Given the description of an element on the screen output the (x, y) to click on. 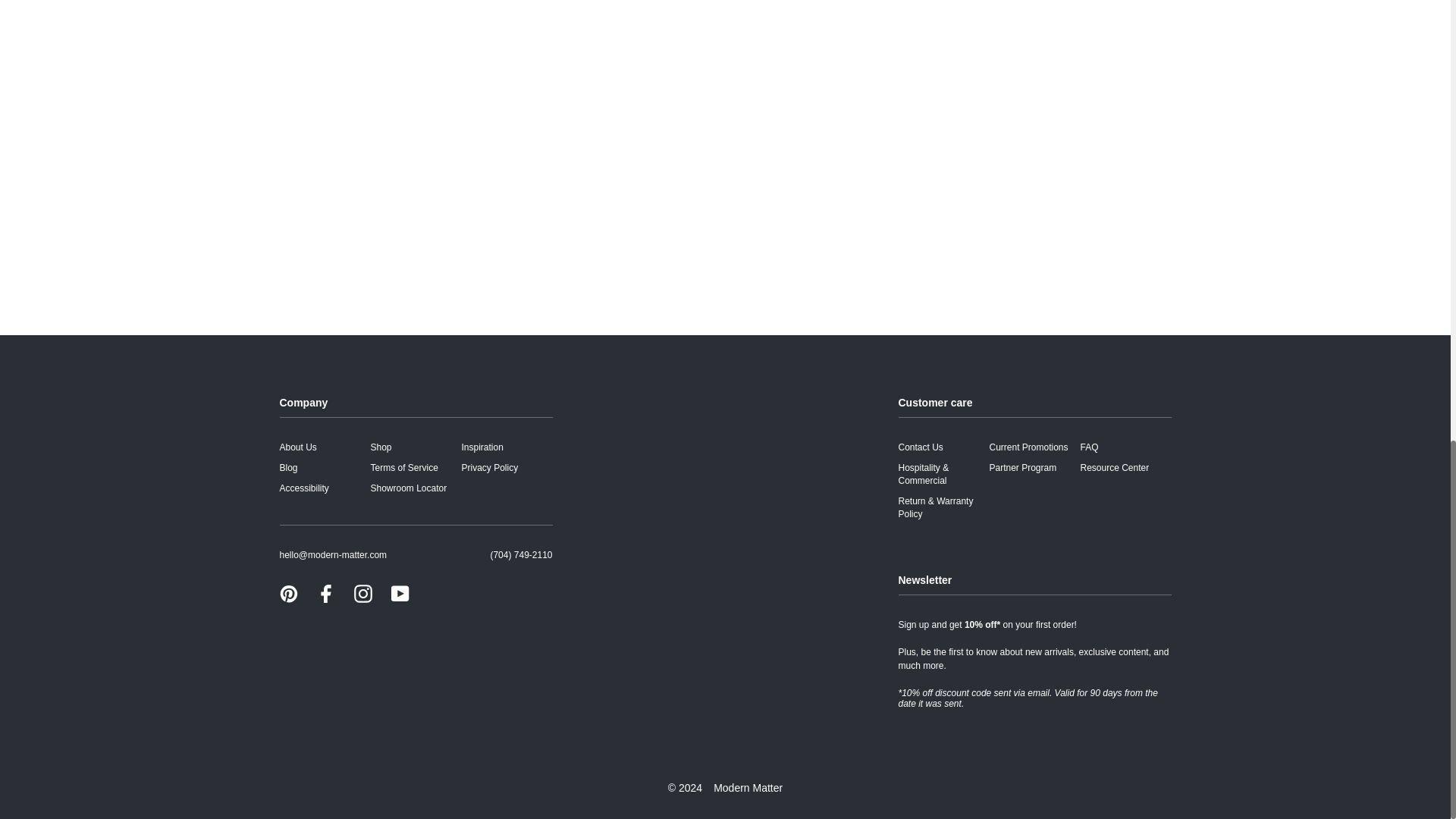
tel:17047492110 (520, 553)
Middleton 1.25 (352, 167)
Middleton 1.25 (714, 167)
